Given the description of an element on the screen output the (x, y) to click on. 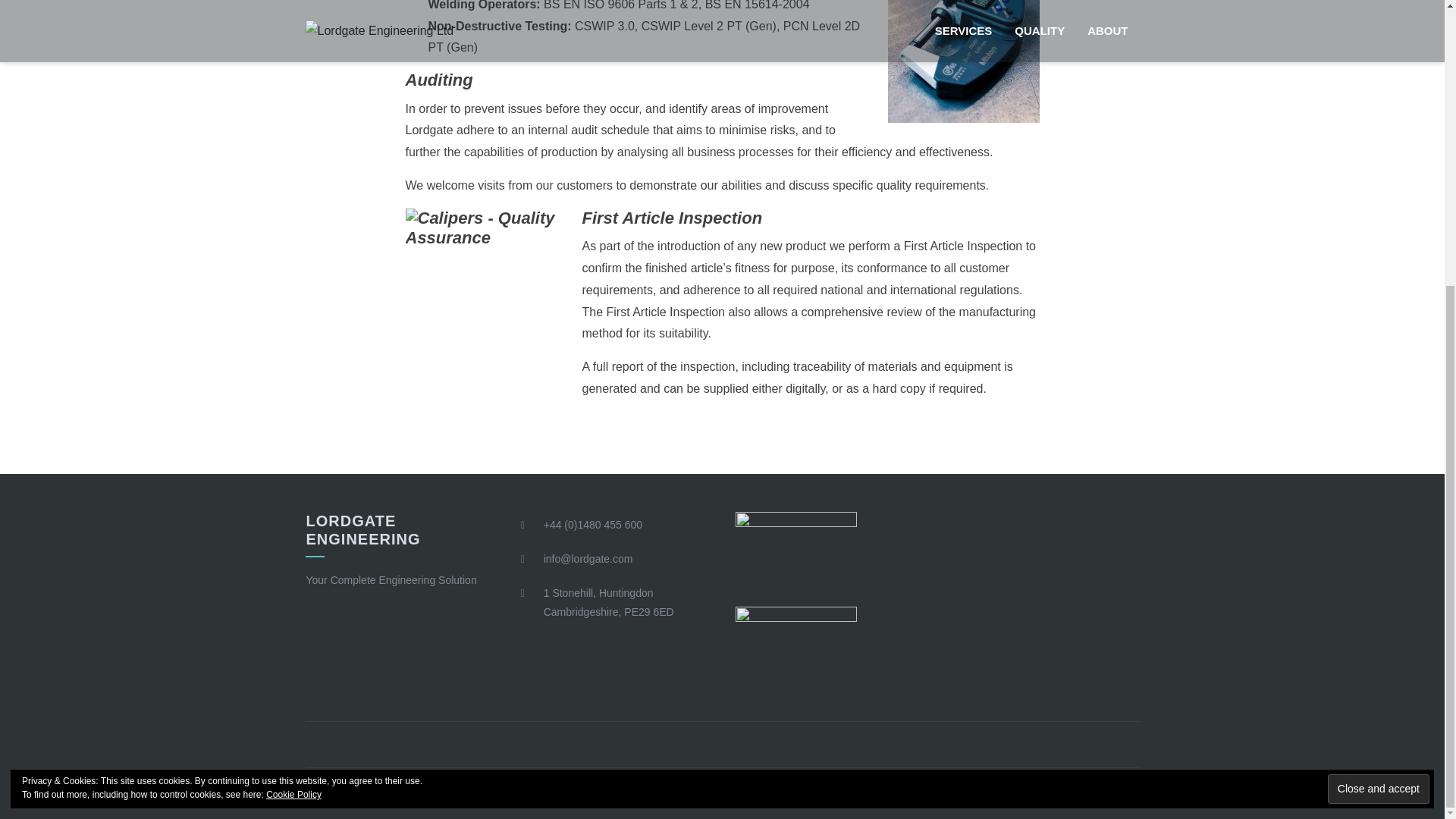
Cookie Policy (293, 363)
Close and accept (1378, 358)
Micrometer - Quality Assurance (962, 61)
Square (418, 793)
Close and accept (1378, 358)
